Given the description of an element on the screen output the (x, y) to click on. 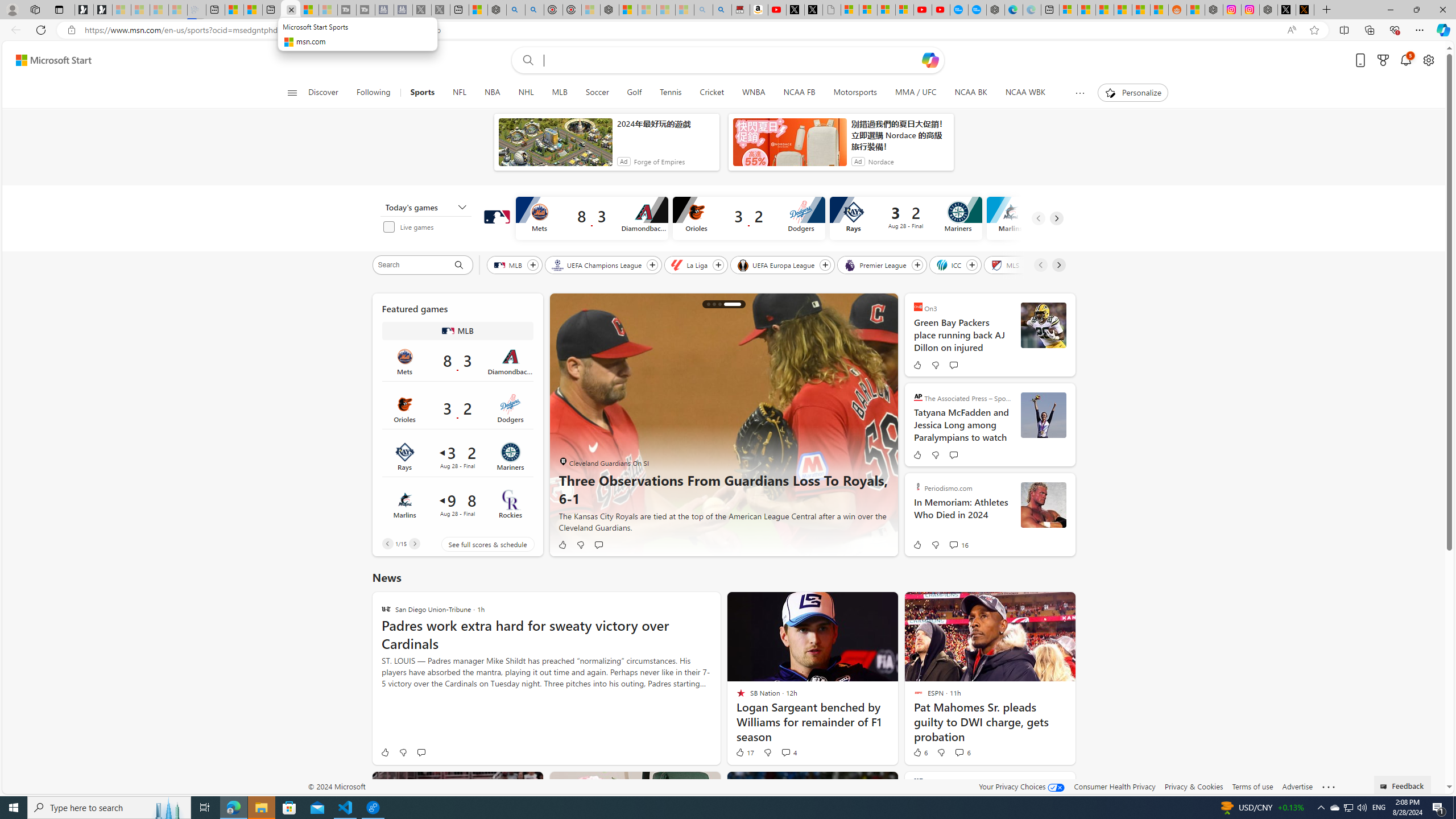
Privacy & Cookies (1193, 785)
Follow UEFA Europa League (825, 265)
Show more topics (1079, 92)
Motorsports (854, 92)
This 15-Year-Old Just Ran a 4:05 Mile (719, 304)
ICC (948, 264)
49ers place former starting RB on season-ending IR (713, 304)
View comments 6 Comment (958, 751)
NCAA BK (970, 92)
Follow MLB (532, 265)
